Given the description of an element on the screen output the (x, y) to click on. 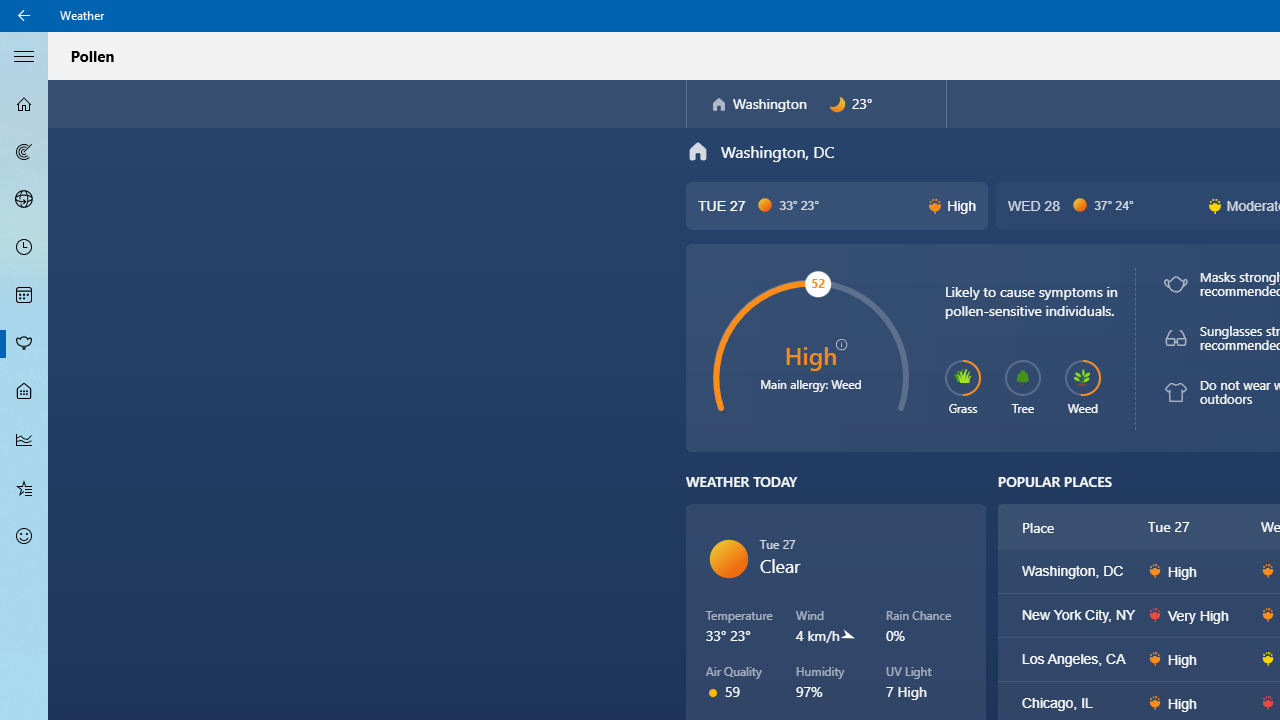
Monthly Forecast - Not Selected (24, 295)
Forecast - Not Selected (24, 103)
Life - Not Selected (24, 391)
Historical Weather - Not Selected (24, 439)
Life - Not Selected (24, 391)
Favorites - Not Selected (24, 487)
Pollen - Not Selected (24, 343)
